Given the description of an element on the screen output the (x, y) to click on. 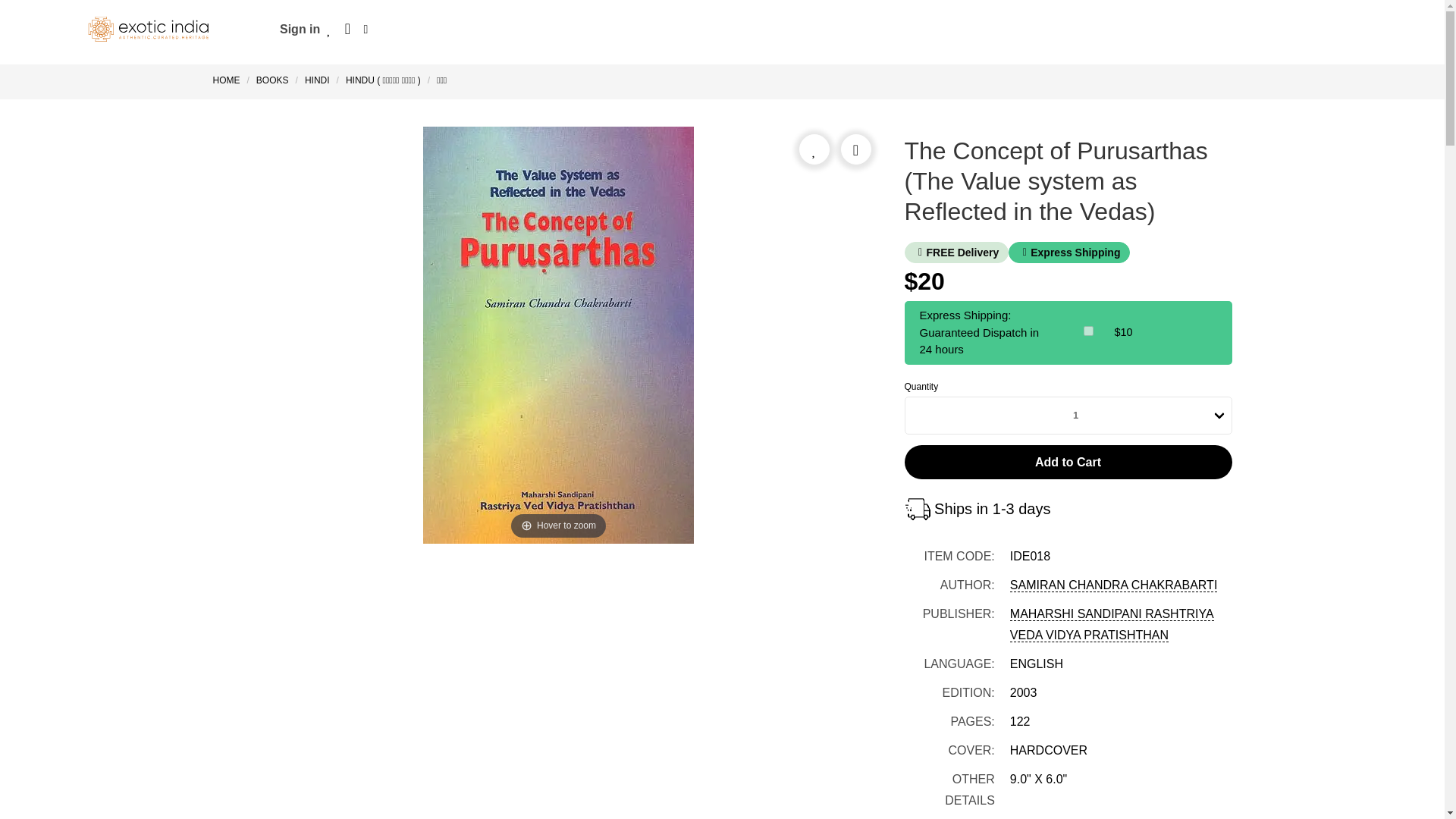
Wishlist (328, 29)
HINDI (317, 79)
HOME (229, 79)
Hindi (317, 79)
Save to Wishlist (814, 149)
BOOKS (271, 79)
Hover to zoom (558, 334)
Add to Cart (1067, 461)
Sign in (299, 29)
Home (229, 79)
Sign in (299, 29)
Books (271, 79)
